Given the description of an element on the screen output the (x, y) to click on. 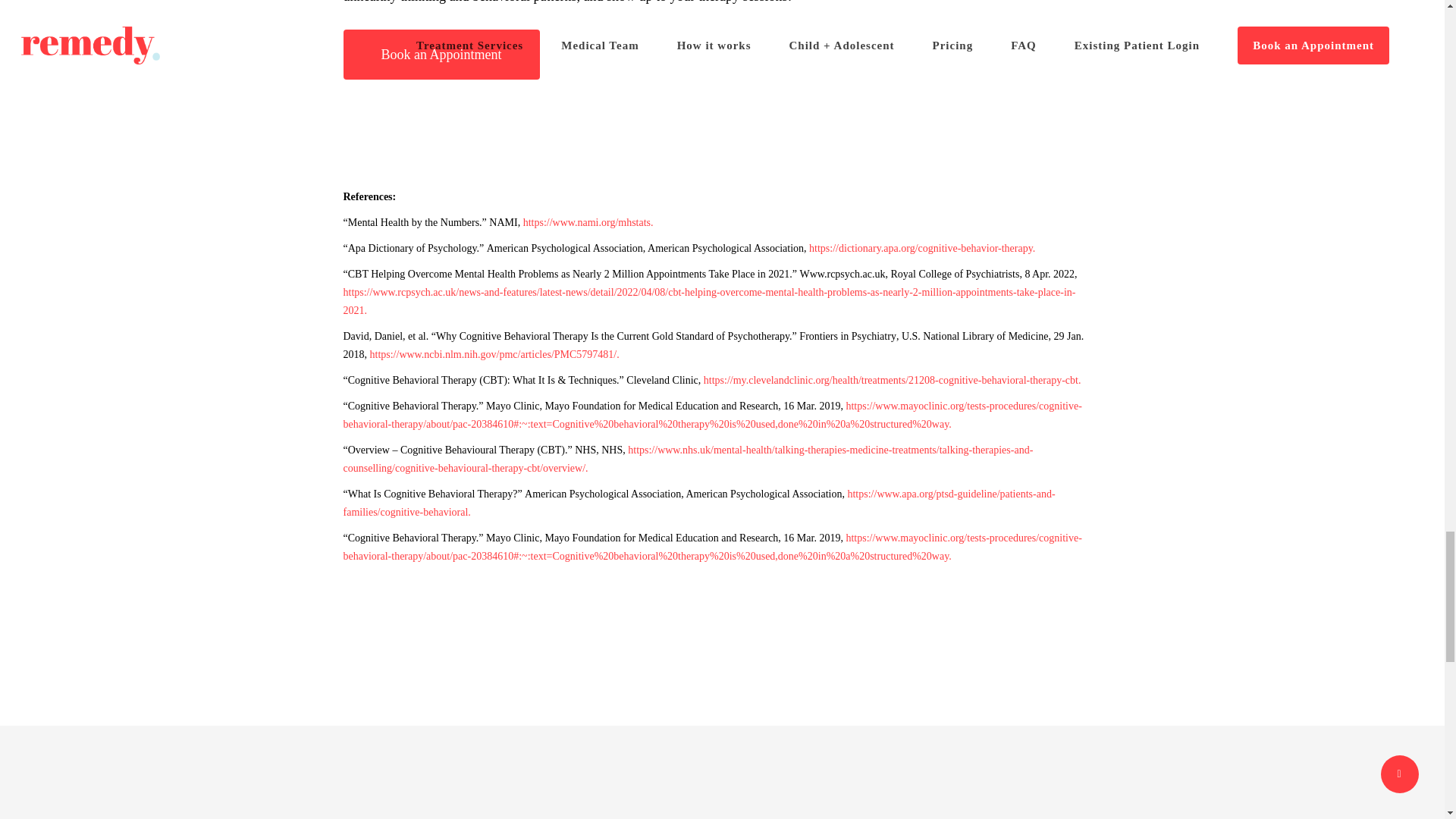
Book an Appointment (440, 54)
